Given the description of an element on the screen output the (x, y) to click on. 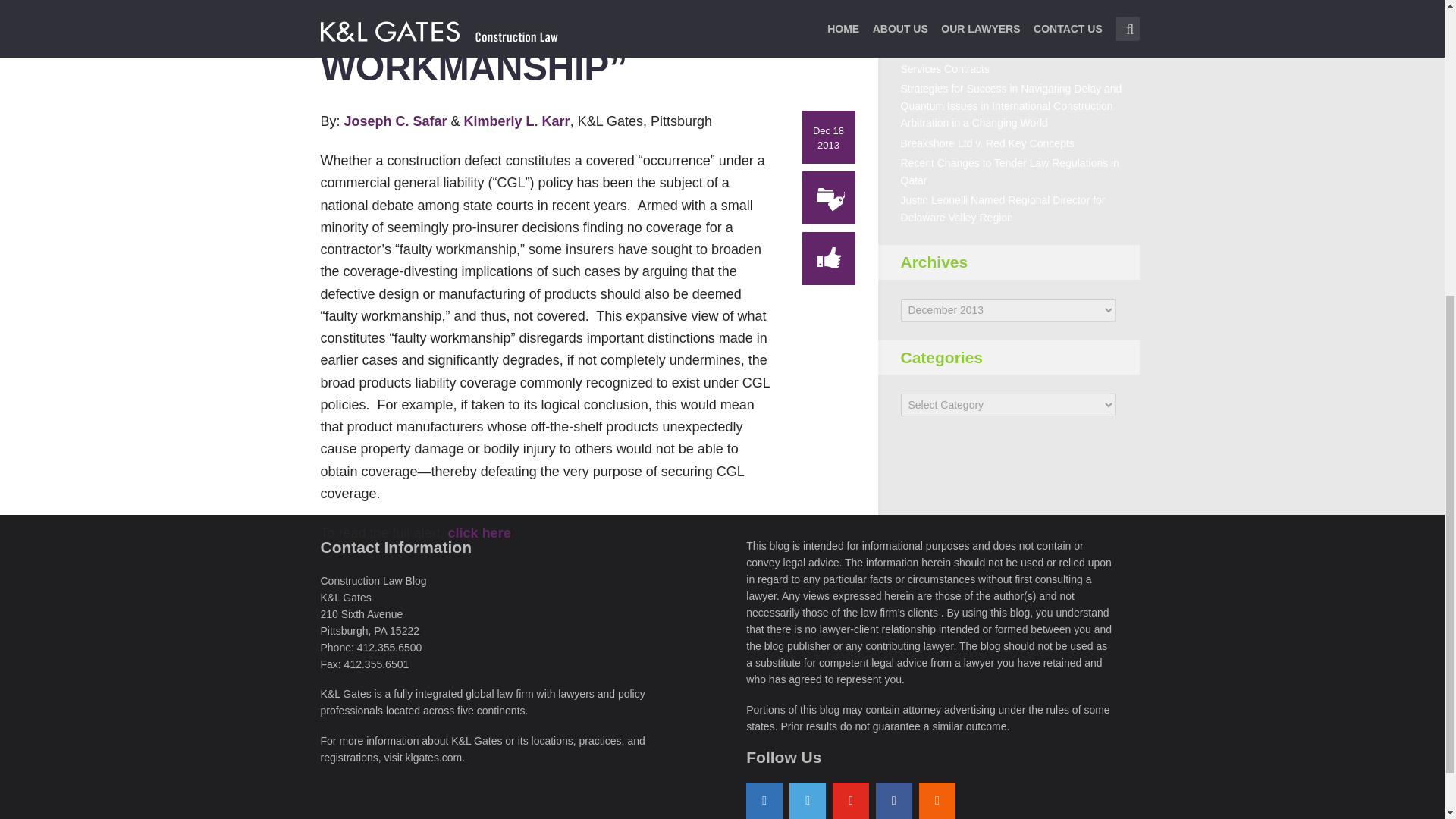
Recent Changes to Tender Law Regulations in Qatar (1010, 171)
Kimberly L. Karr (517, 120)
Breakshore Ltd v. Red Key Concepts (987, 143)
click here (479, 532)
klgates.com (434, 757)
Joseph C. Safar (397, 120)
